Given the description of an element on the screen output the (x, y) to click on. 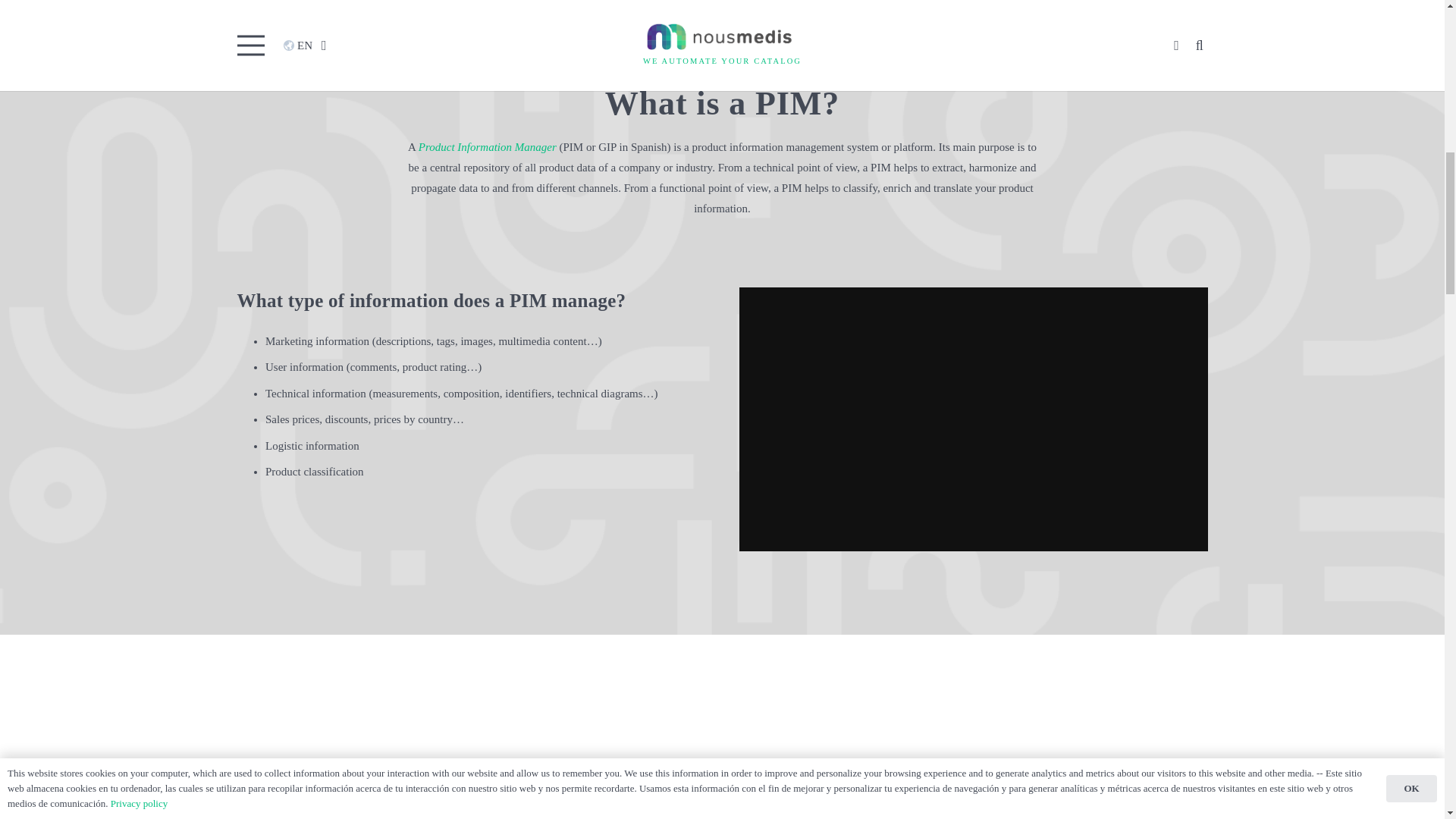
Product Information Manager (487, 146)
Youtube video player (973, 418)
Back to top (1413, 26)
Sales Layer (599, 814)
